Given the description of an element on the screen output the (x, y) to click on. 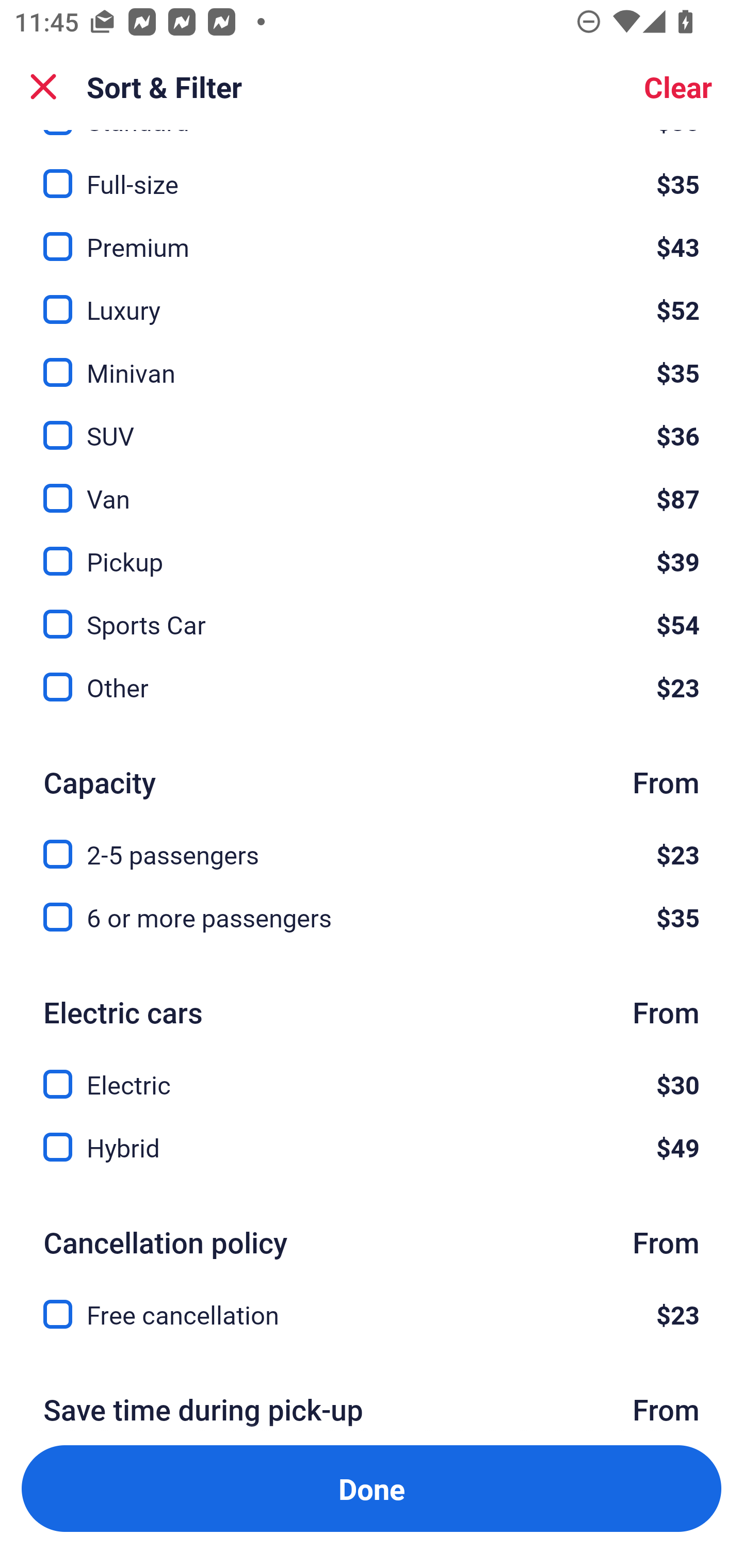
Close Sort and Filter (43, 86)
Clear (677, 86)
Full-size, $35 Full-size $35 (371, 172)
Premium, $43 Premium $43 (371, 234)
Luxury, $52 Luxury $52 (371, 297)
Minivan, $35 Minivan $35 (371, 360)
SUV, $36 SUV $36 (371, 423)
Van, $87 Van $87 (371, 486)
Pickup, $39 Pickup $39 (371, 550)
Sports Car, $54 Sports Car $54 (371, 612)
Other, $23 Other $23 (371, 687)
2-5 passengers, $23 2-5 passengers $23 (371, 842)
6 or more passengers, $35 6 or more passengers $35 (371, 917)
Electric, $30 Electric $30 (371, 1072)
Hybrid, $49 Hybrid $49 (371, 1147)
Free cancellation, $23 Free cancellation $23 (371, 1314)
Apply and close Sort and Filter Done (371, 1488)
